Given the description of an element on the screen output the (x, y) to click on. 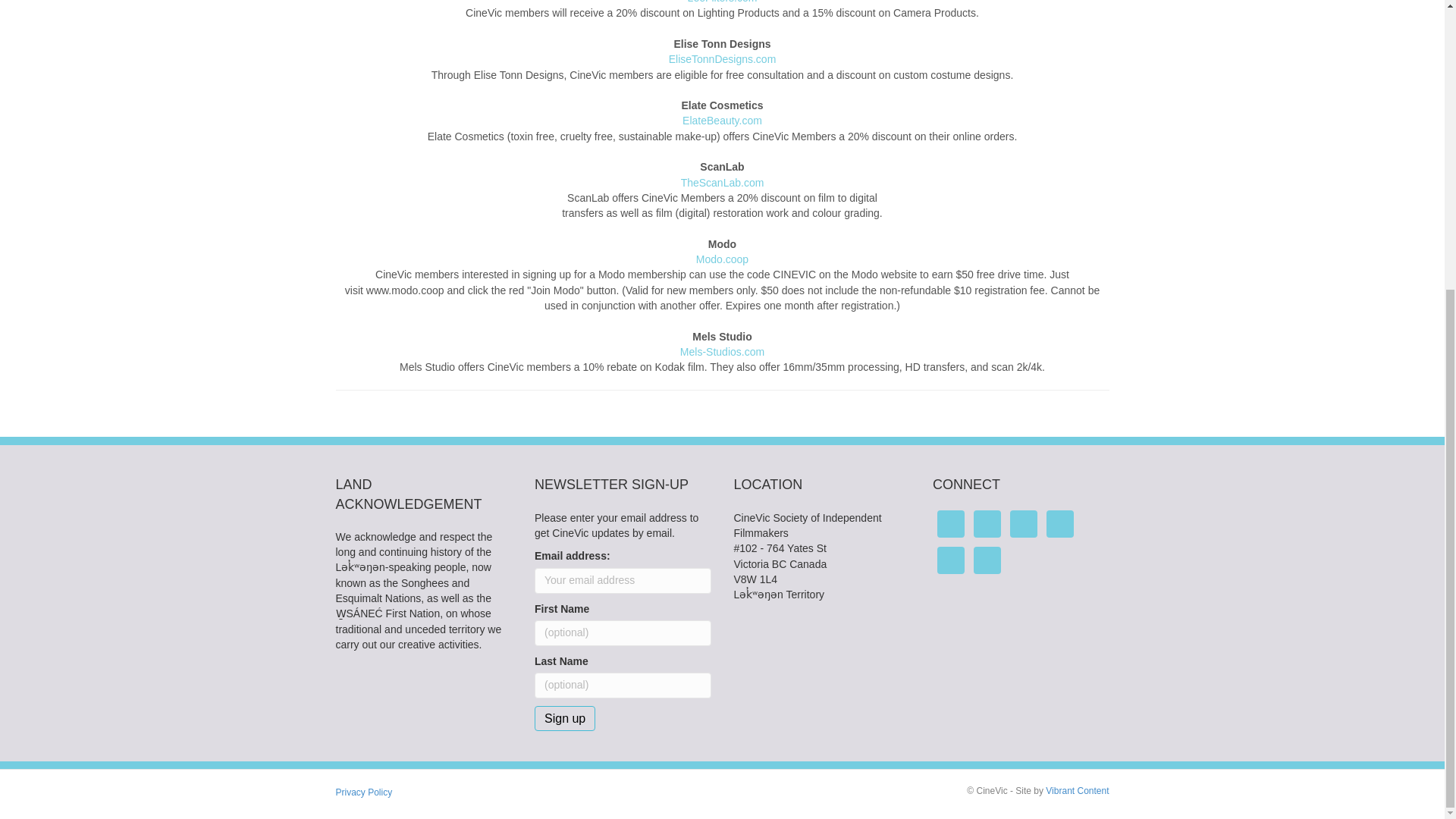
Sign up (564, 718)
